Given the description of an element on the screen output the (x, y) to click on. 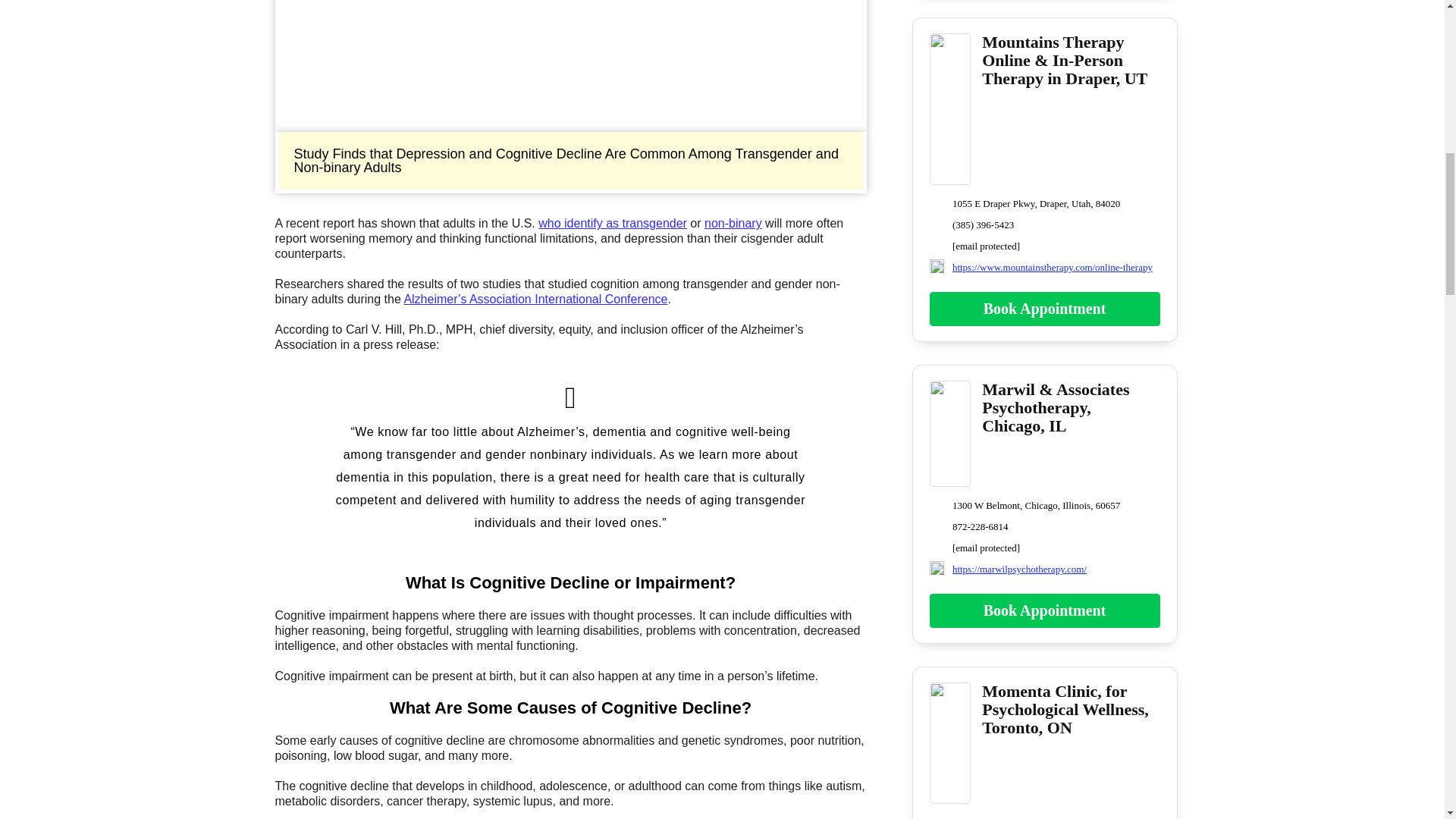
Momenta Clinic, for Psychological Wellness, Toronto, ON (950, 793)
